Given the description of an element on the screen output the (x, y) to click on. 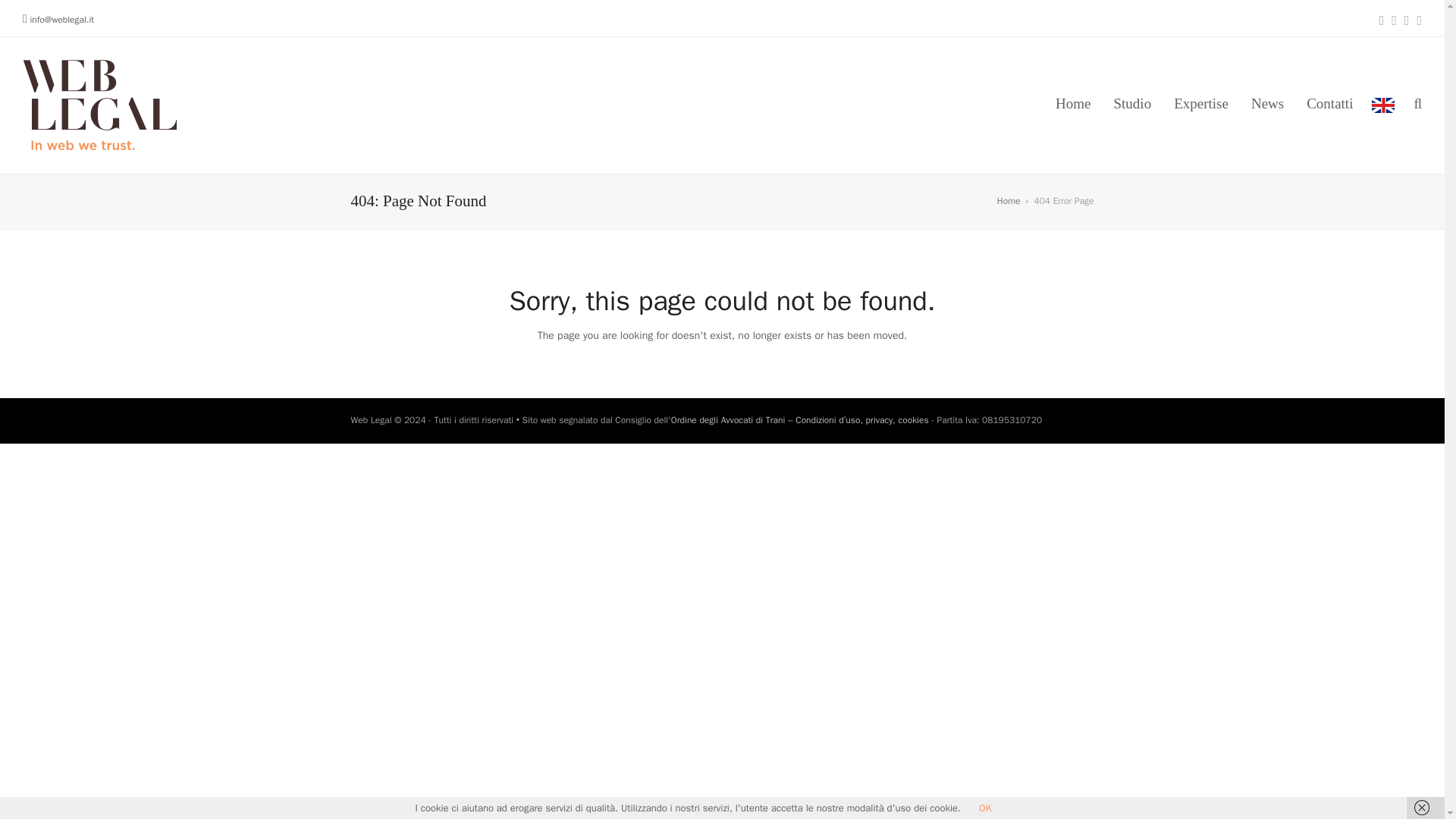
Ordine degli Avvocati di Trani (728, 419)
Studio (1132, 105)
Home (1072, 105)
Expertise (1200, 105)
Contatti (1329, 105)
Home (1008, 200)
News (1267, 105)
